Given the description of an element on the screen output the (x, y) to click on. 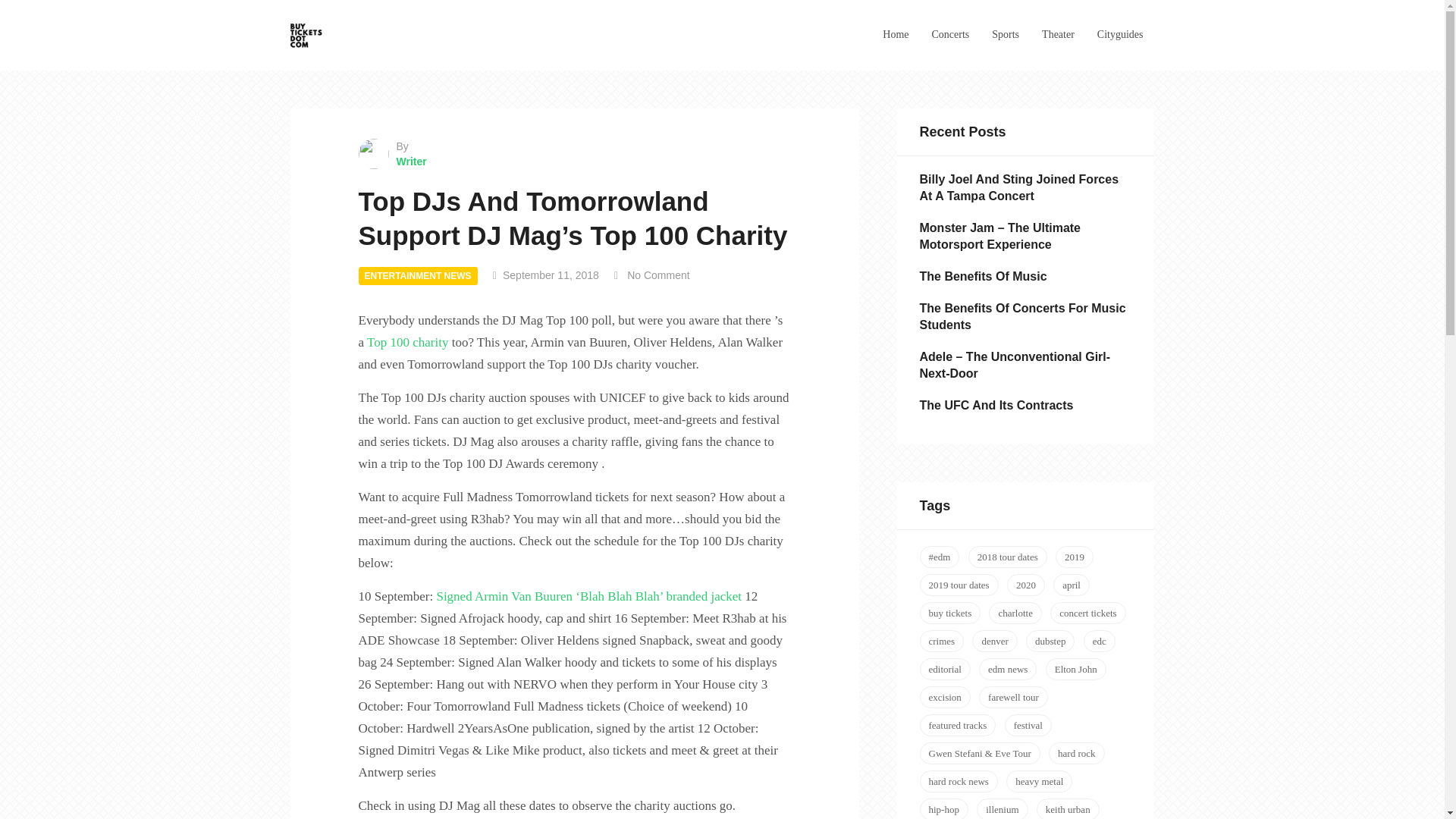
Sports (1005, 34)
Top 100 charity (407, 341)
Concerts (950, 34)
ENTERTAINMENT NEWS (417, 275)
2020 (1026, 585)
2018 tour dates (1007, 557)
Writer (574, 160)
Theater (1058, 34)
2019 (1074, 557)
Theater (1058, 34)
Home (895, 34)
Billy Joel And Sting Joined Forces At A Tampa Concert (1018, 187)
The Benefits Of Concerts For Music Students (1021, 316)
buy tickets (948, 612)
2019 tour dates (957, 585)
